Given the description of an element on the screen output the (x, y) to click on. 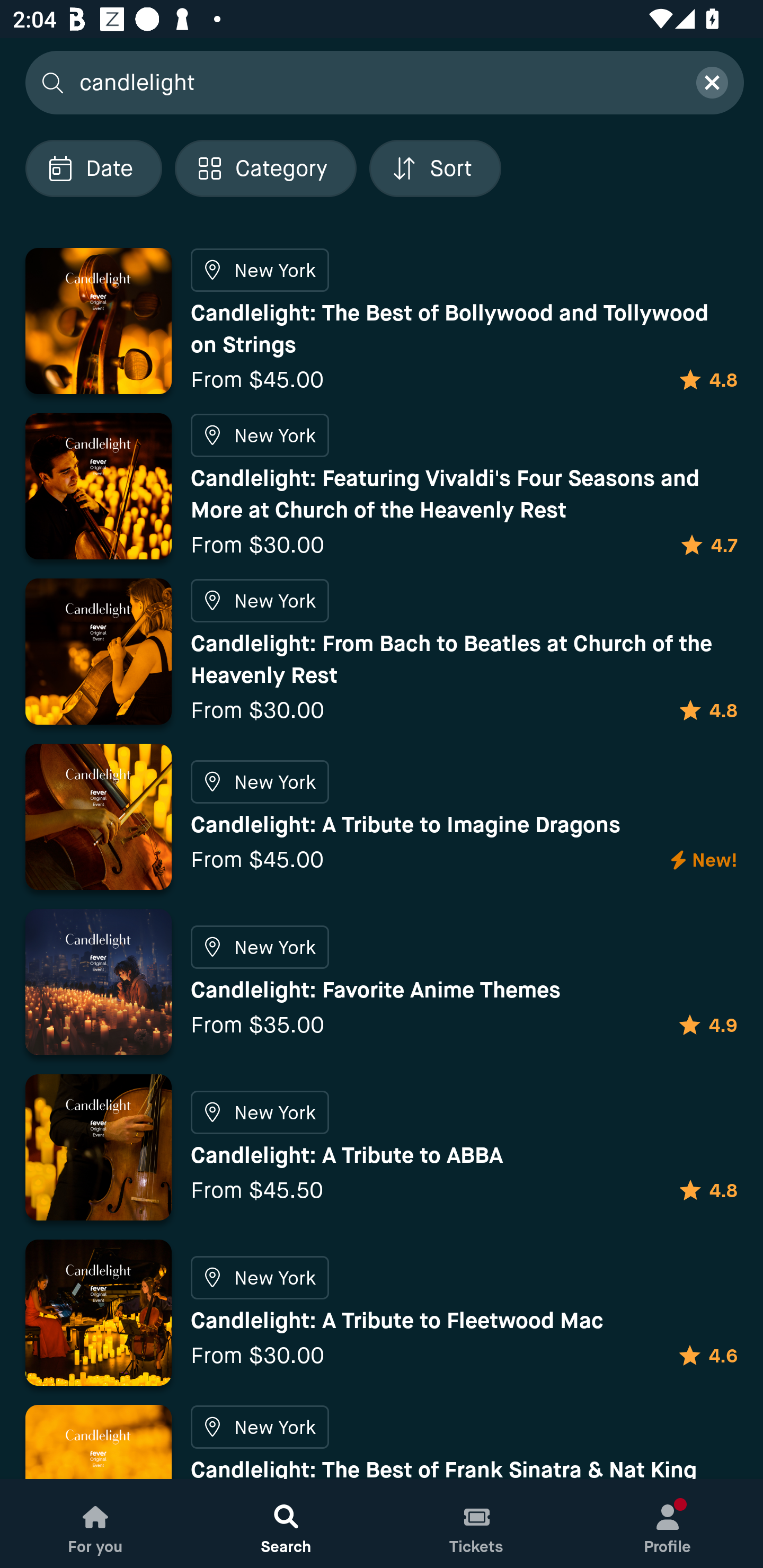
candlelight (376, 81)
Localized description Date (93, 168)
Localized description Category (265, 168)
Localized description Sort (435, 168)
For you (95, 1523)
Tickets (476, 1523)
Profile, New notification Profile (667, 1523)
